Given the description of an element on the screen output the (x, y) to click on. 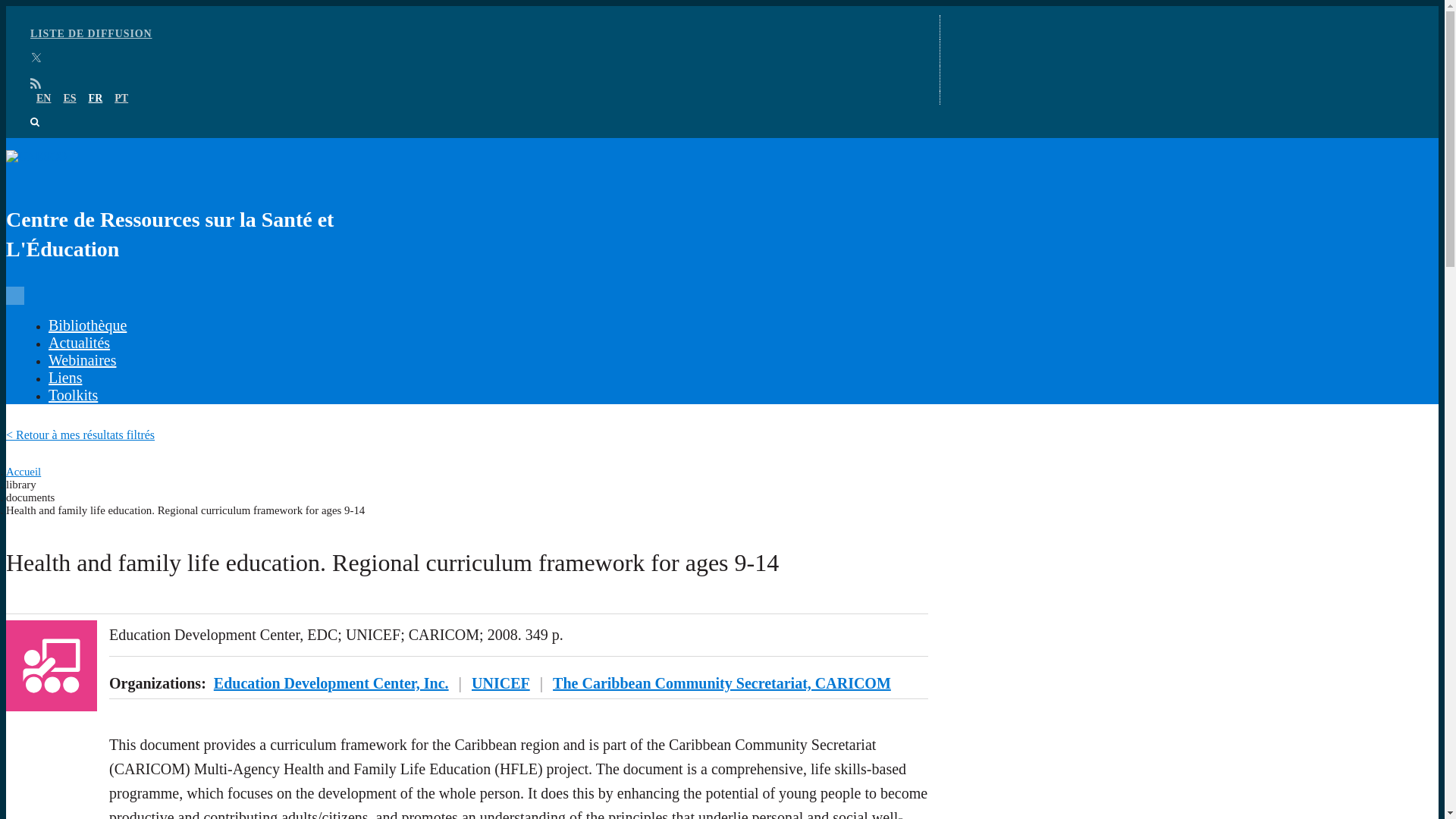
Education Development Center, Inc. (331, 682)
ES (68, 98)
Accueil (22, 471)
The Caribbean Community Secretariat, CARICOM (722, 682)
LISTE DE DIFFUSION (91, 33)
Toolkits (72, 394)
FR (95, 98)
UNICEF (500, 682)
Aller au contenu principal (722, 7)
PT (121, 98)
Webinaires (82, 360)
EN (43, 98)
Liens (64, 377)
